Given the description of an element on the screen output the (x, y) to click on. 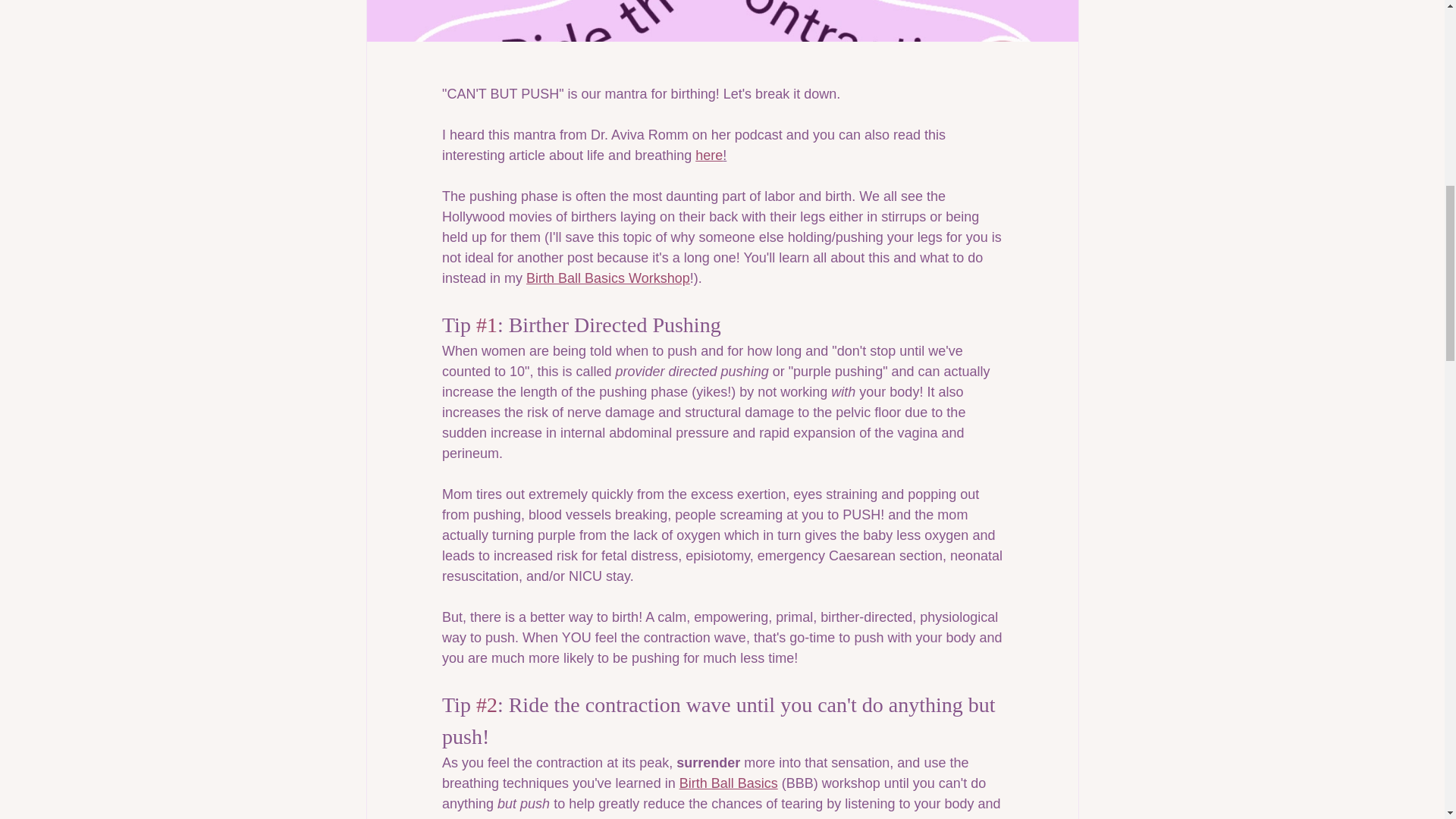
Birth Ball Basics Workshop (607, 277)
Birth Ball Basics (727, 782)
here (708, 154)
